Given the description of an element on the screen output the (x, y) to click on. 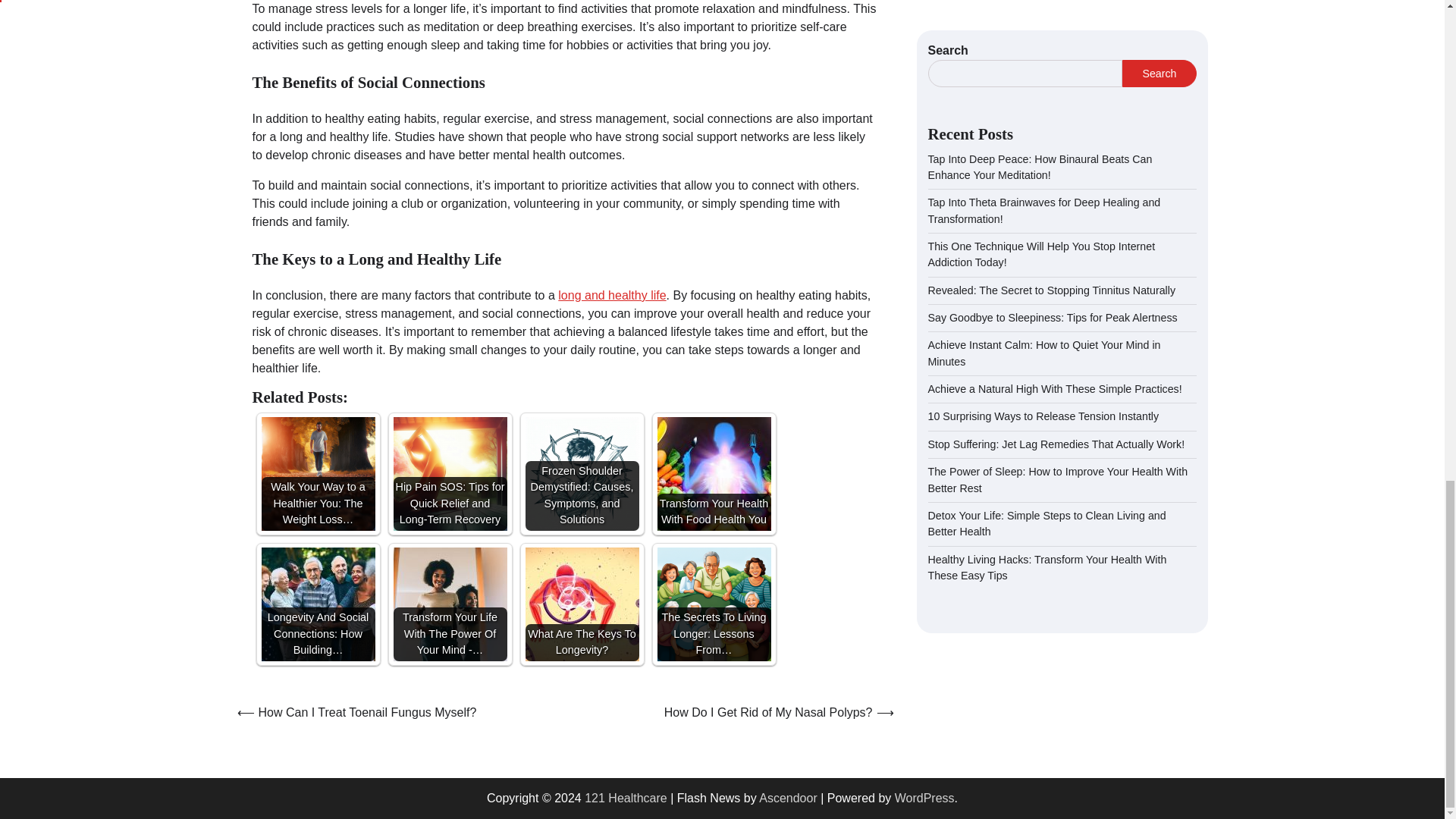
Hip Pain SOS: Tips for Quick Relief and Long-Term Recovery (449, 473)
WordPress (925, 797)
Transform Your Health With Food Health You (713, 473)
long and healthy life (611, 295)
Ascendoor (787, 797)
What Are The Keys To Longevity? (581, 603)
Hip Pain SOS: Tips for Quick Relief and Long-Term Recovery (449, 473)
What Are The Keys To Longevity? (581, 603)
Transform Your Health With Food Health You (713, 473)
Frozen Shoulder Demystified: Causes, Symptoms, and Solutions (581, 473)
